Given the description of an element on the screen output the (x, y) to click on. 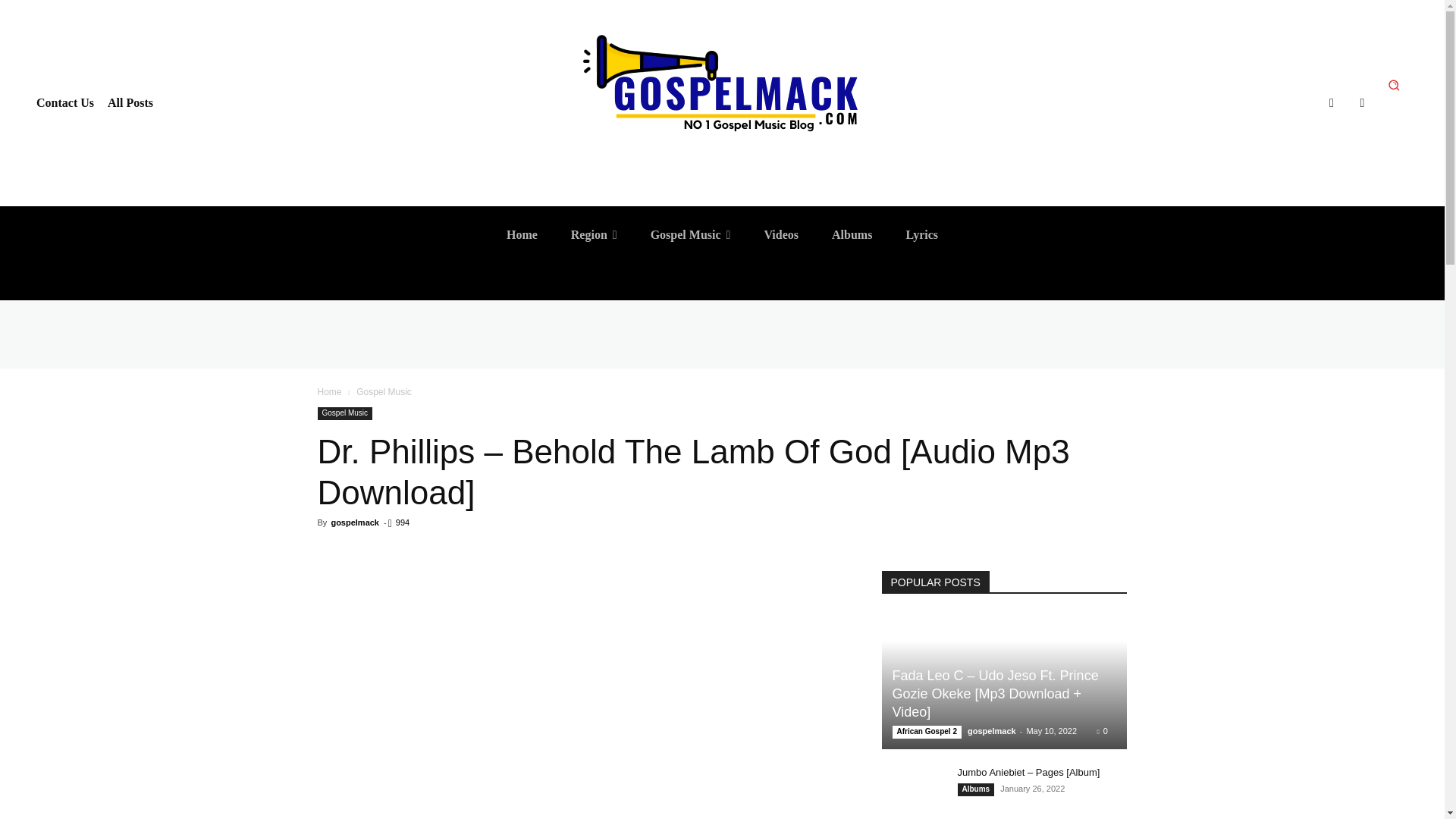
Home (522, 234)
All Posts (129, 102)
Region (593, 234)
Twitter (1362, 102)
Contact Us (65, 102)
Facebook (1331, 102)
